Given the description of an element on the screen output the (x, y) to click on. 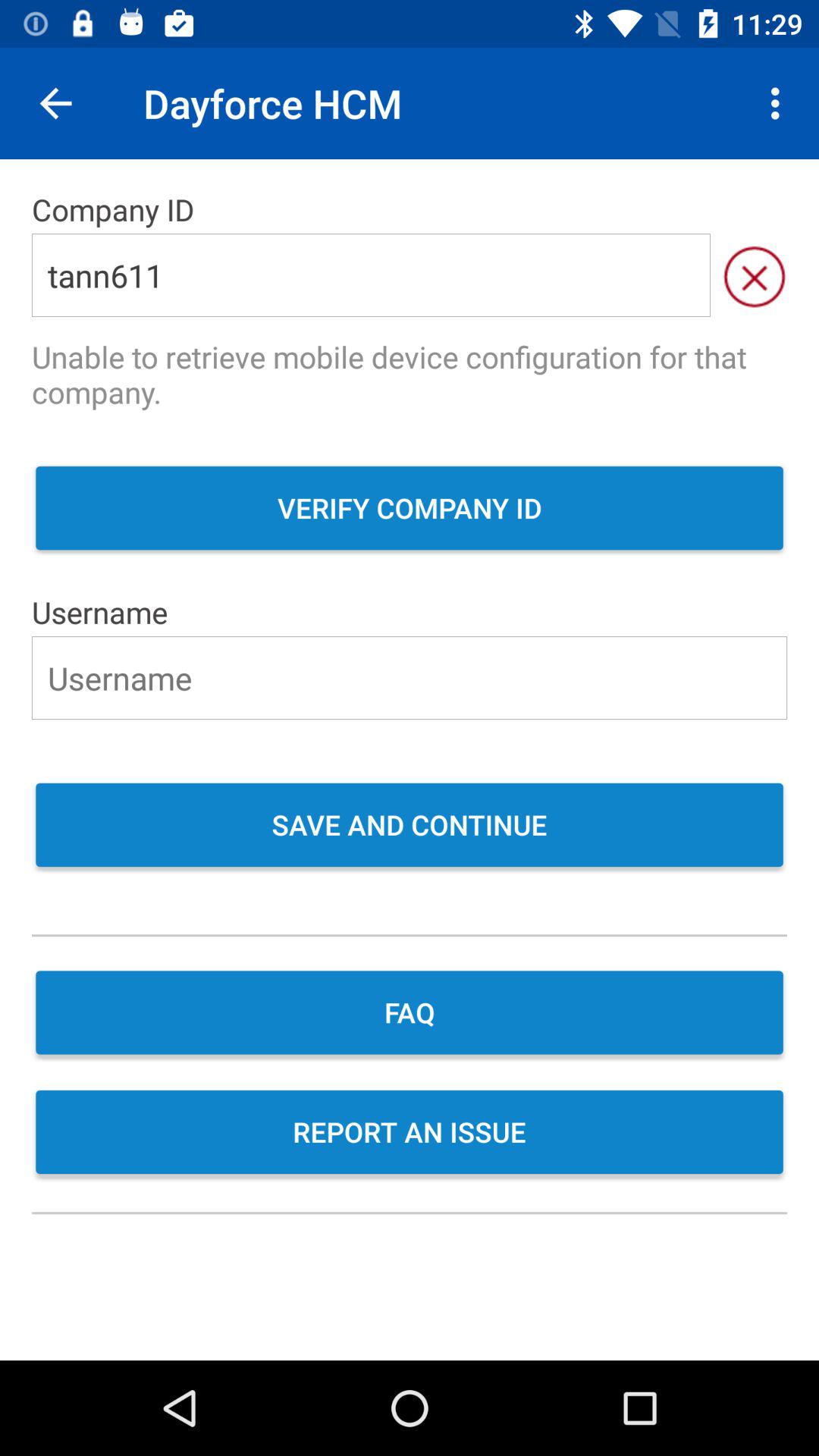
turn on faq (409, 1014)
